Given the description of an element on the screen output the (x, y) to click on. 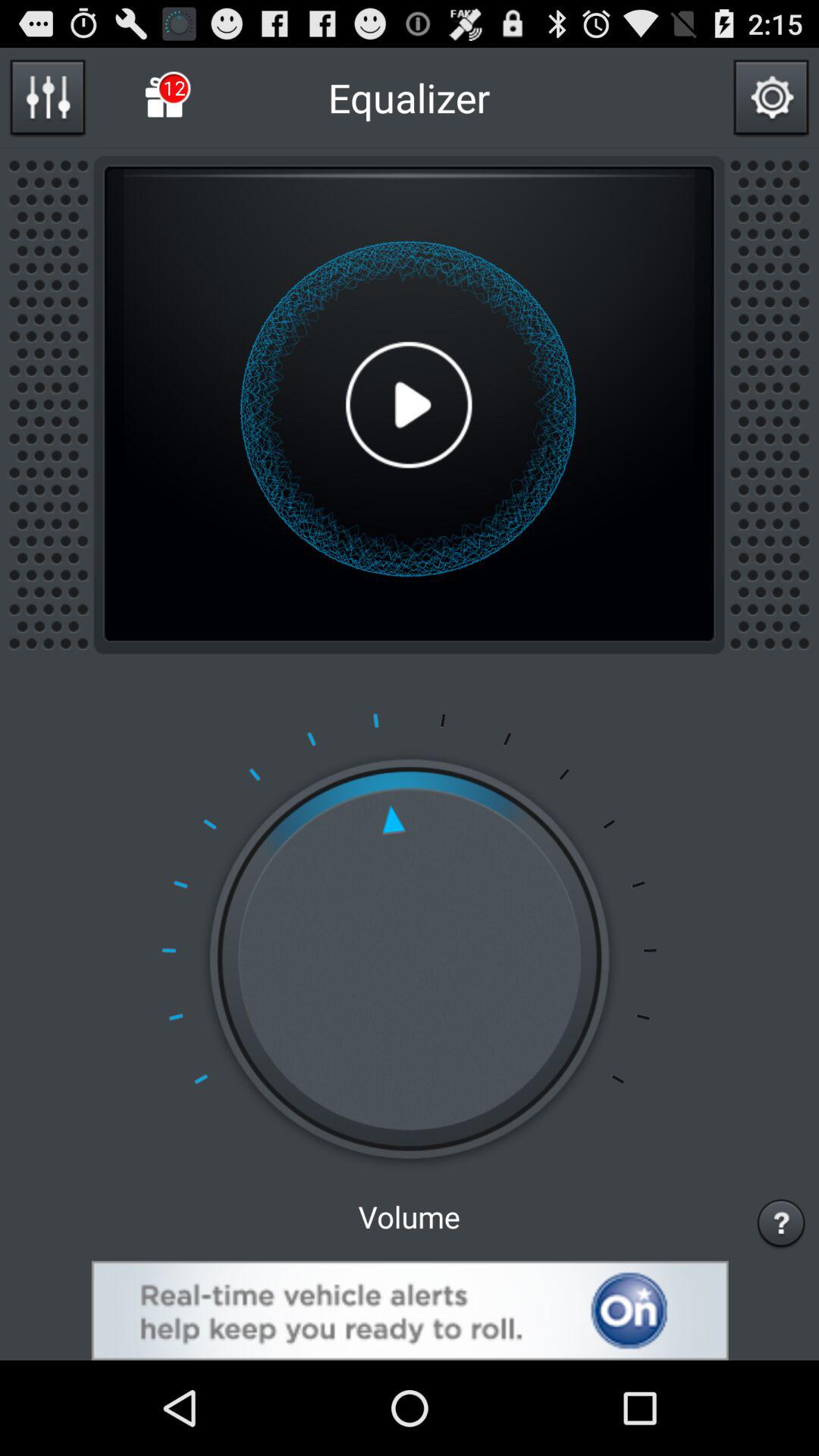
open equalizer option (47, 97)
